Given the description of an element on the screen output the (x, y) to click on. 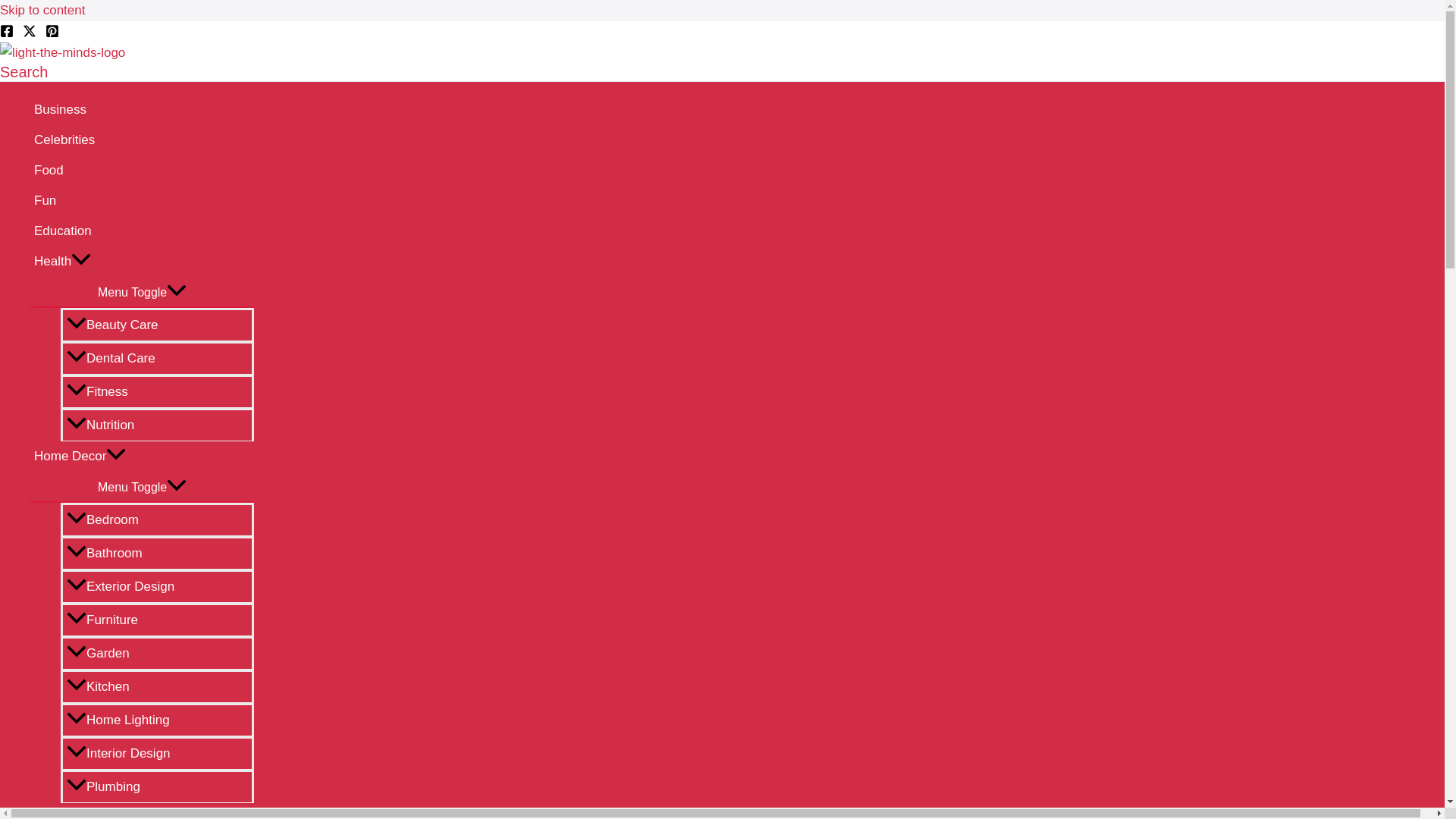
Bedroom (157, 519)
Home Lighting (157, 719)
Interior Design (157, 752)
Kitchen (157, 685)
Celebrities (141, 140)
Skip to content (42, 10)
Business (141, 110)
Menu Toggle (141, 291)
Furniture (157, 619)
Home Decor (141, 456)
